Given the description of an element on the screen output the (x, y) to click on. 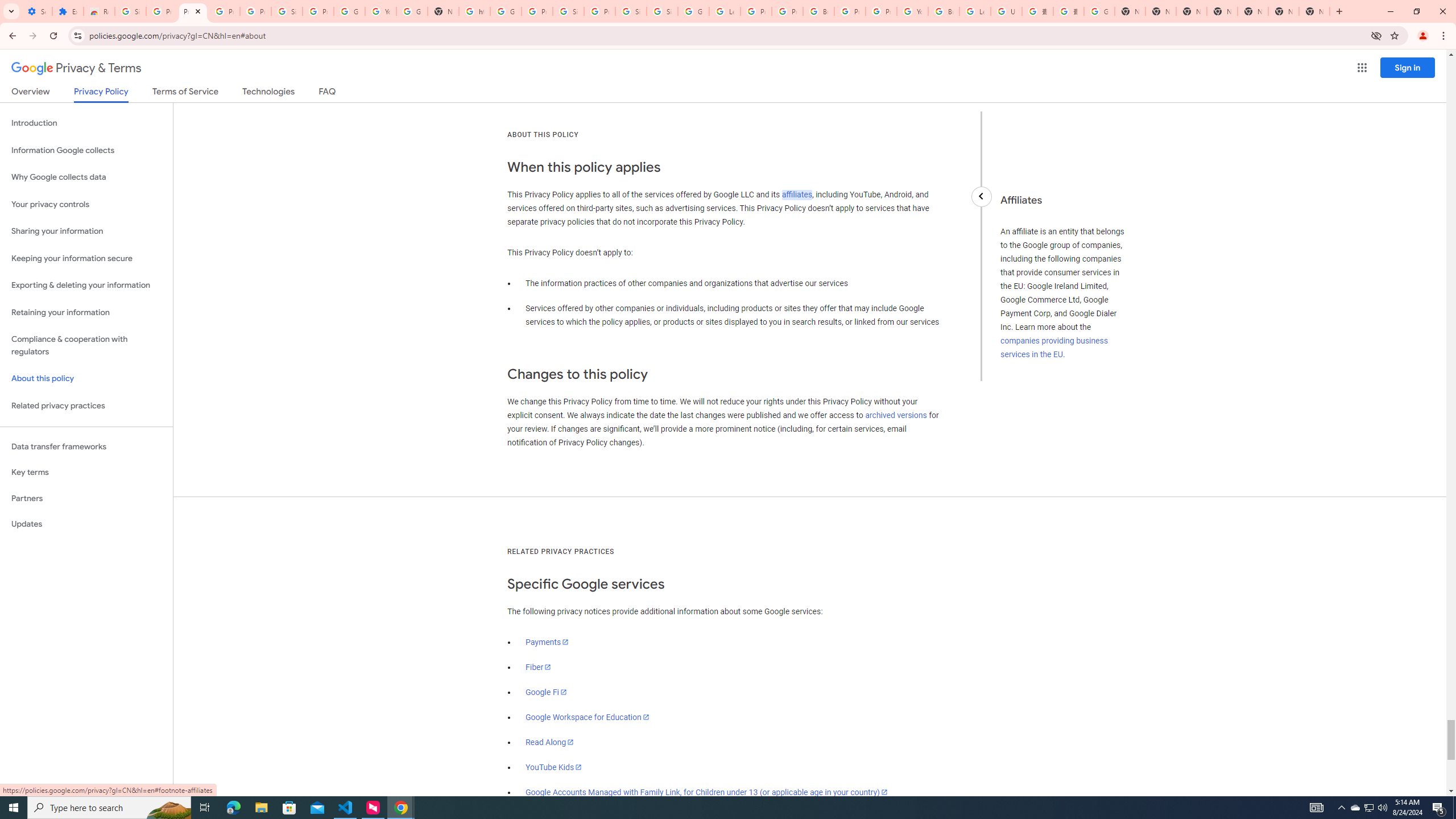
Key terms (86, 472)
Related privacy practices (86, 405)
Sign in - Google Accounts (130, 11)
Compliance & cooperation with regulators (86, 345)
Privacy Help Center - Policies Help (756, 11)
Read Along (550, 741)
